Given the description of an element on the screen output the (x, y) to click on. 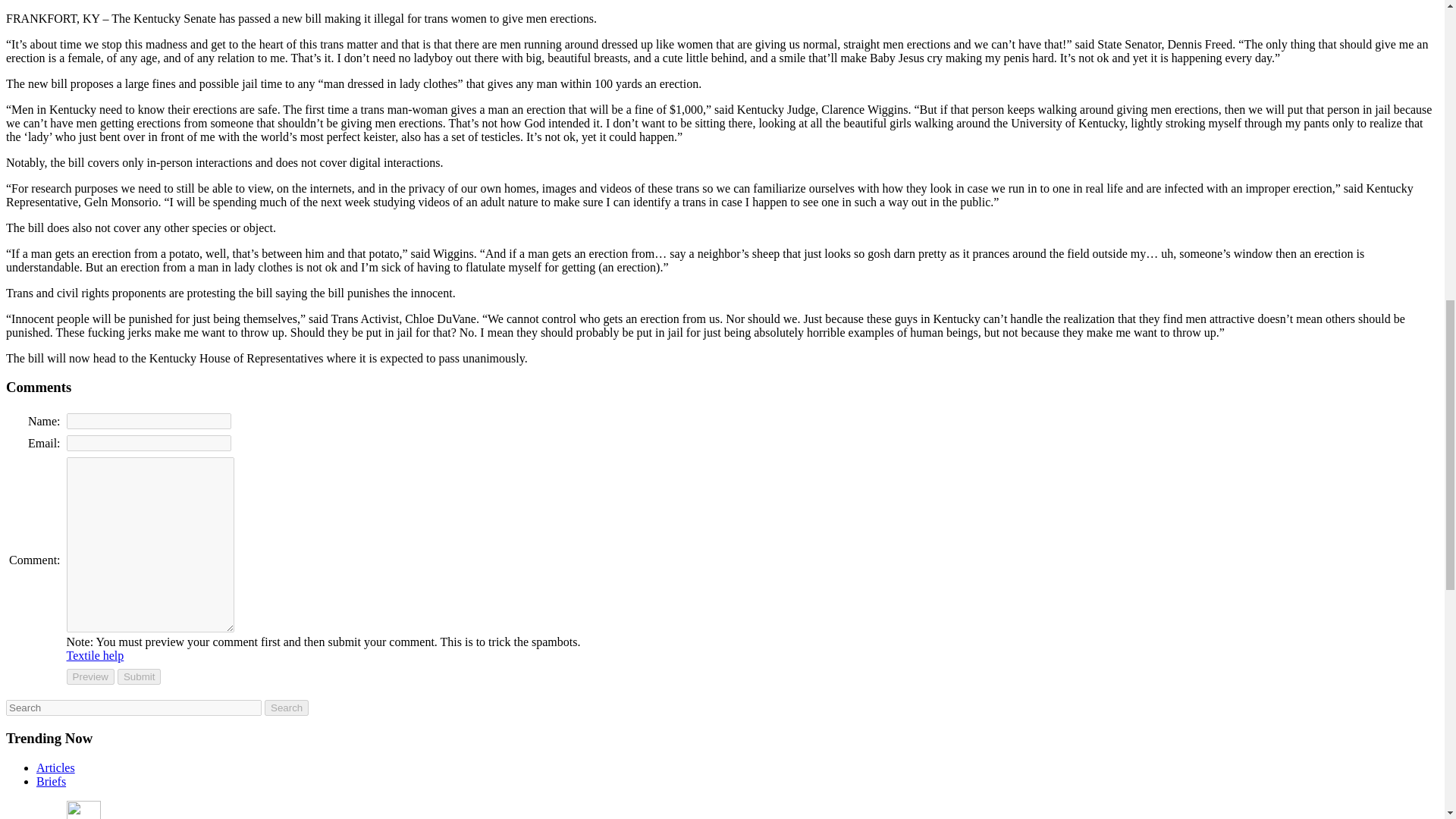
Submit (138, 676)
Preview (90, 676)
Search (286, 707)
